Given the description of an element on the screen output the (x, y) to click on. 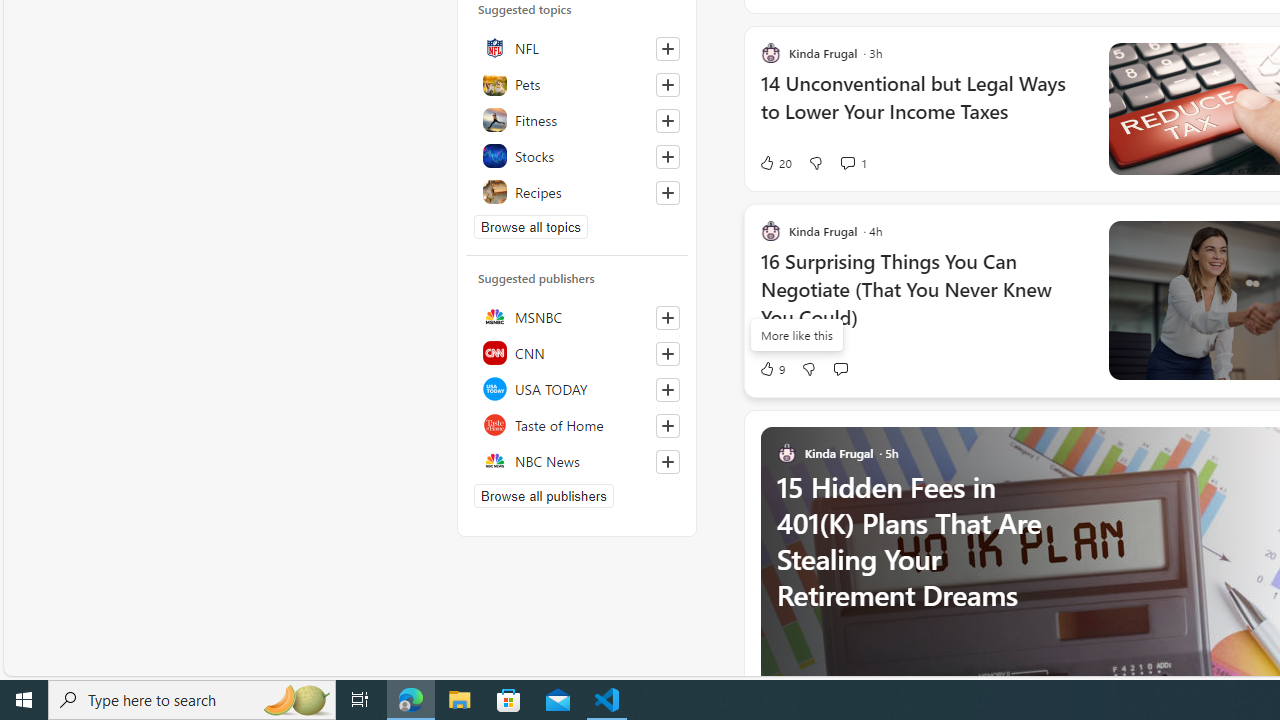
20 Like (775, 162)
Recipes (577, 191)
14 Unconventional but Legal Ways to Lower Your Income Taxes (922, 107)
View comments 1 Comment (852, 162)
MSNBC (577, 317)
Follow this source (667, 461)
NBC News (577, 461)
Follow this topic (667, 192)
Dislike (808, 368)
View comments 1 Comment (847, 162)
CNN (577, 353)
Browse all publishers (543, 495)
